Given the description of an element on the screen output the (x, y) to click on. 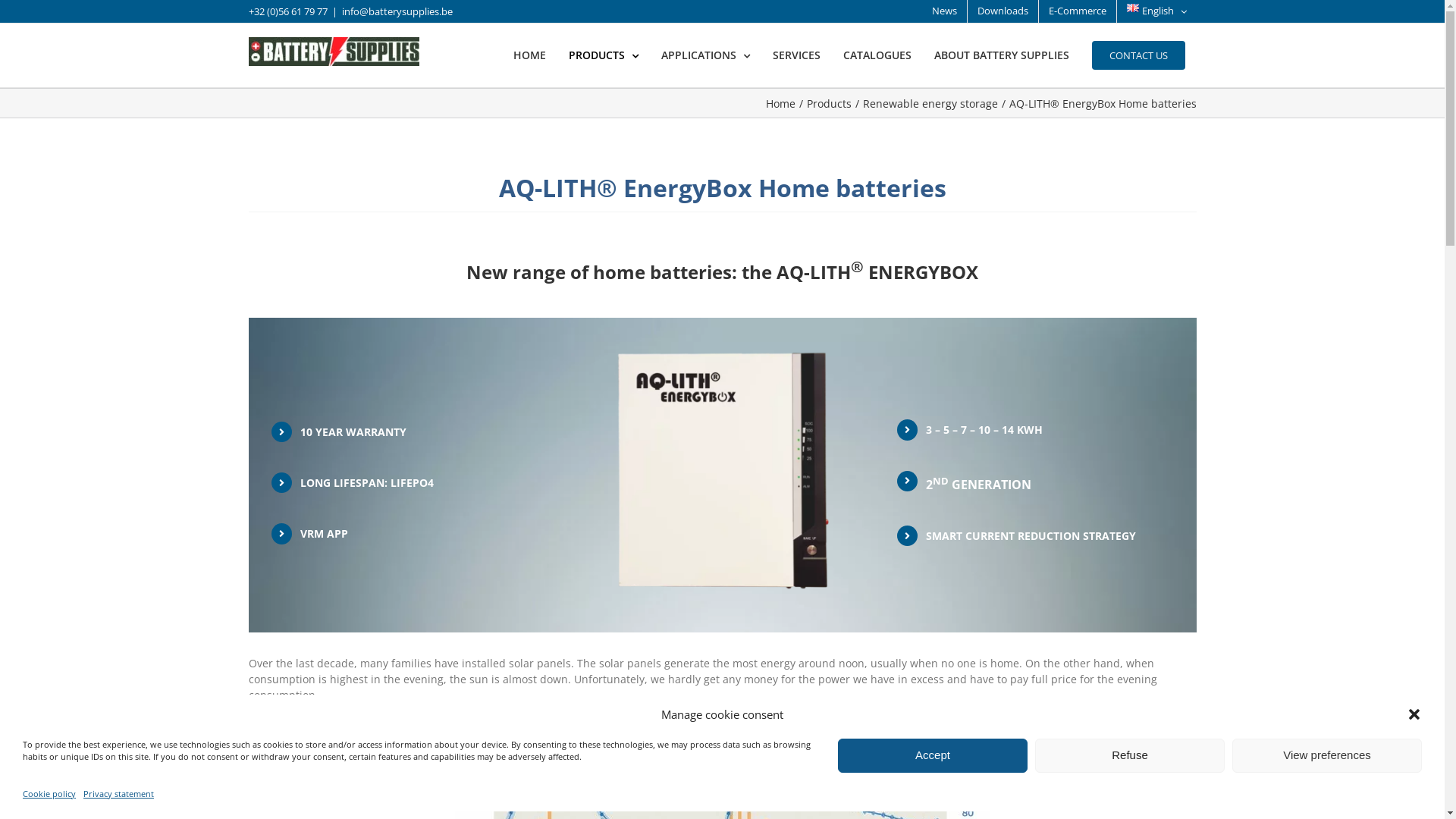
English Element type: text (1156, 11)
CATALOGUES Element type: text (877, 55)
info@batterysupplies.be Element type: text (396, 11)
Privacy statement Element type: text (118, 793)
E-Commerce Element type: text (1077, 11)
SERVICES Element type: text (795, 55)
CONTACT US Element type: text (1138, 55)
Products Element type: text (828, 102)
thuisbat Element type: hover (721, 478)
Renewable energy storage Element type: text (929, 102)
APPLICATIONS Element type: text (705, 55)
News Element type: text (944, 11)
+32 (0)56 61 79 77 Element type: text (287, 11)
View preferences Element type: text (1326, 755)
Home Element type: text (780, 102)
Accept Element type: text (932, 755)
PRODUCTS Element type: text (603, 55)
HOME Element type: text (528, 55)
Refuse Element type: text (1129, 755)
ABOUT BATTERY SUPPLIES Element type: text (1001, 55)
Downloads Element type: text (1002, 11)
Cookie policy Element type: text (48, 793)
